Given the description of an element on the screen output the (x, y) to click on. 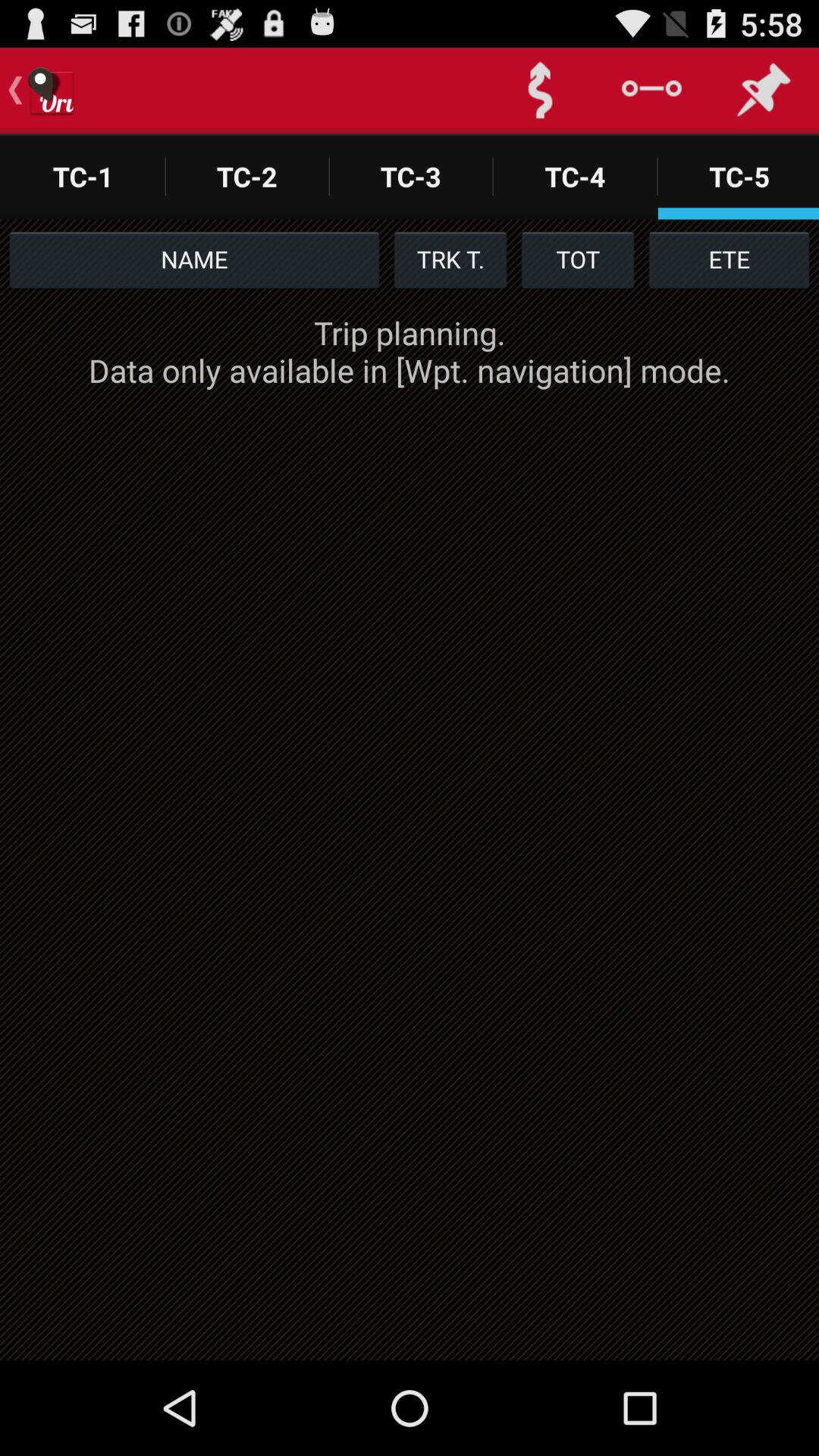
click item above the trip planning data icon (728, 259)
